Given the description of an element on the screen output the (x, y) to click on. 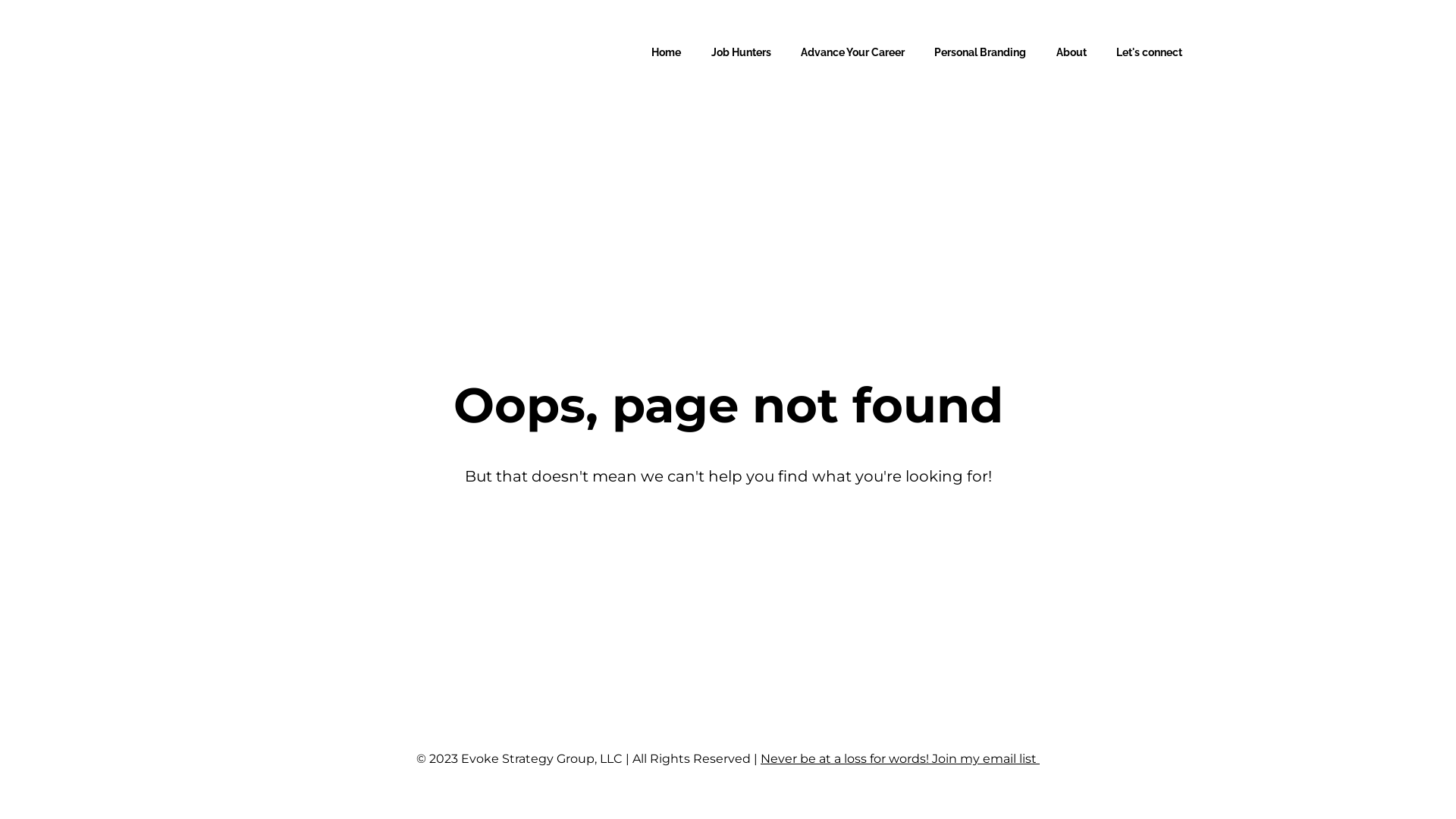
Never be at a loss for words! Join my email list  Element type: text (899, 758)
Let's connect Element type: text (1149, 51)
Advance Your Career Element type: text (852, 51)
Job Hunters Element type: text (741, 51)
Home Element type: text (665, 51)
Personal Branding Element type: text (980, 51)
About Element type: text (1071, 51)
